Given the description of an element on the screen output the (x, y) to click on. 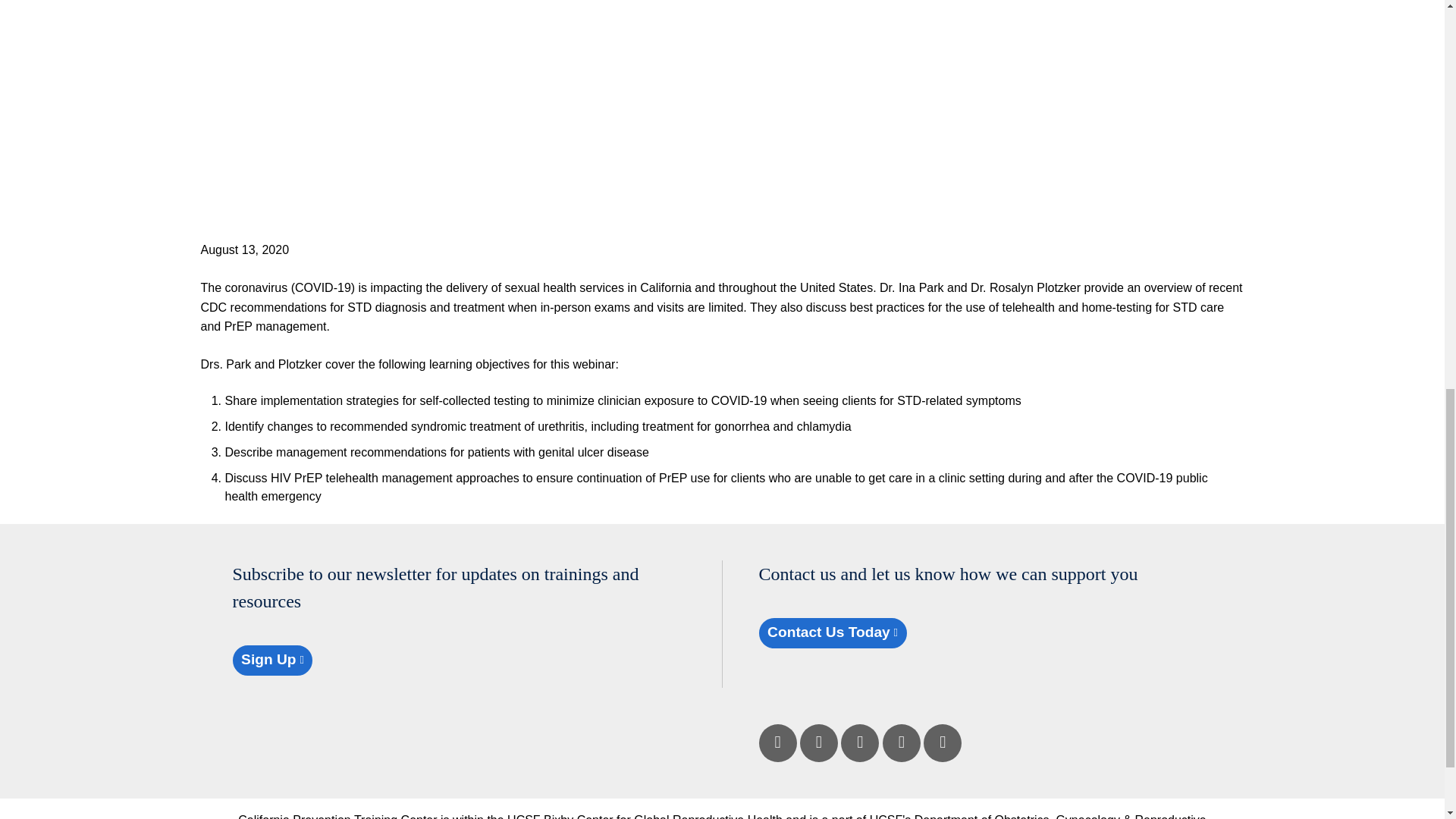
Contact Us Today (831, 632)
Sign Up (272, 659)
